Given the description of an element on the screen output the (x, y) to click on. 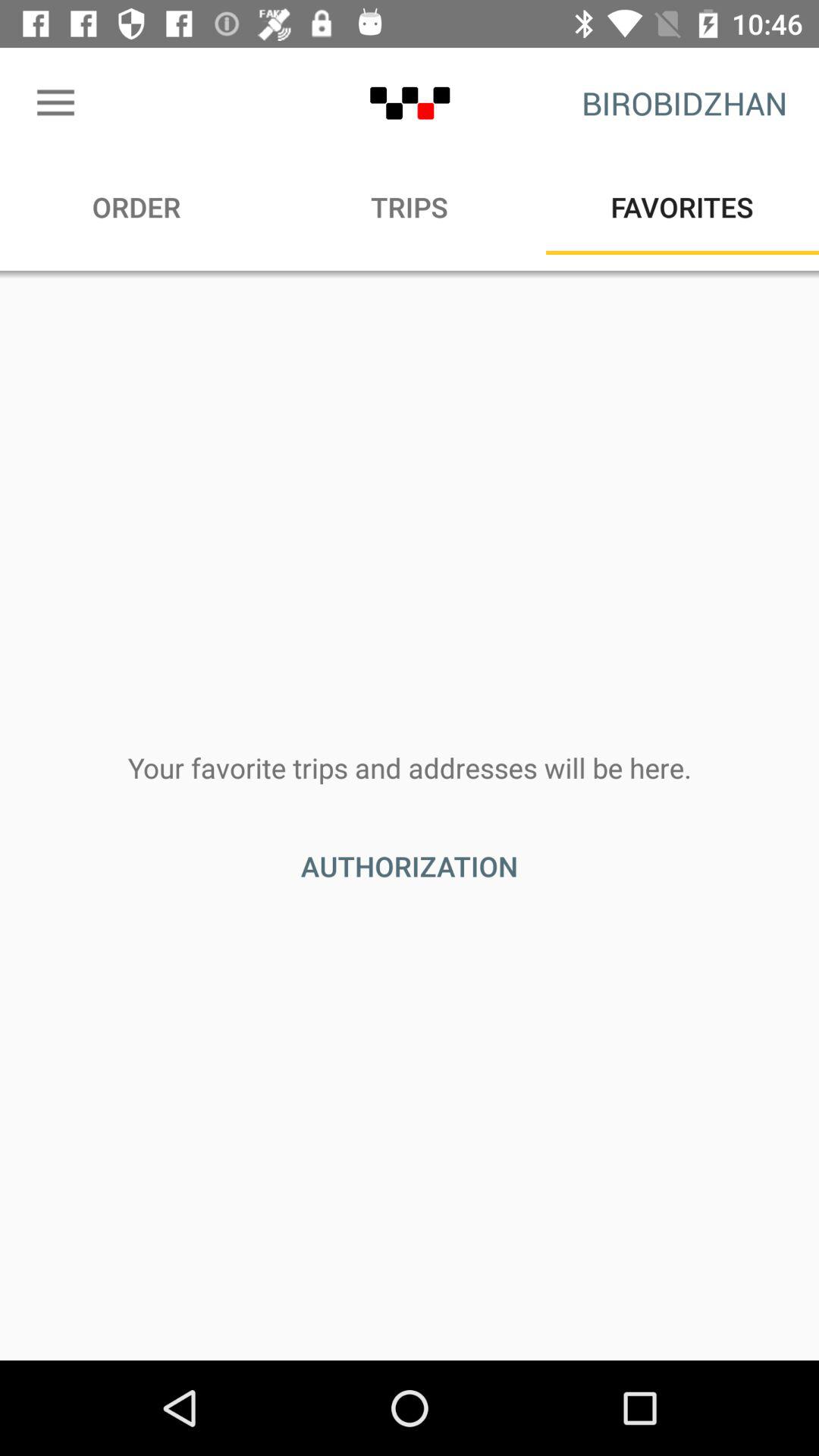
click the item above the favorites item (684, 102)
